Given the description of an element on the screen output the (x, y) to click on. 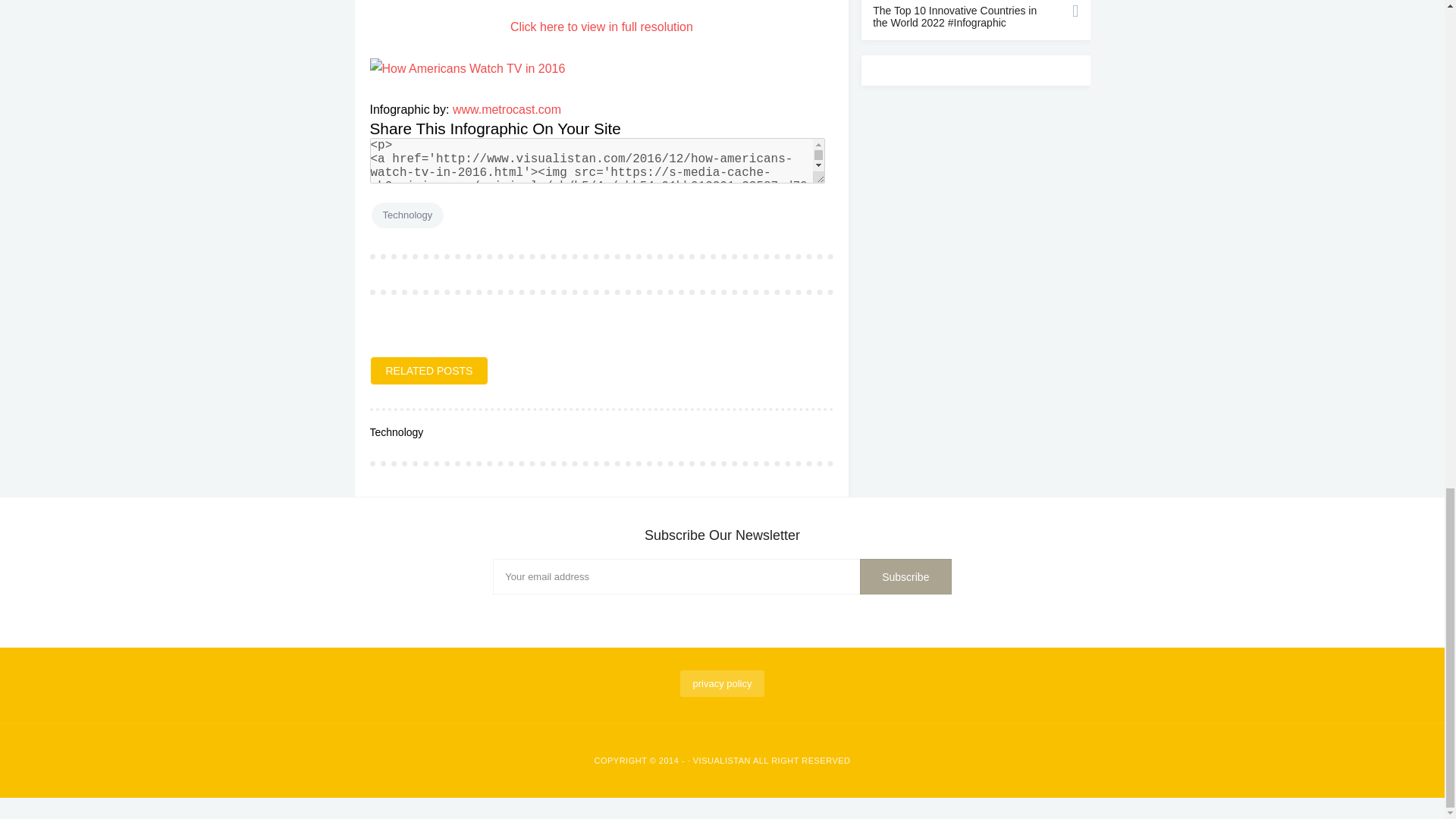
Subscribe (906, 576)
www.metrocast.com (506, 109)
Email (722, 576)
Click here to view in full resolution (602, 26)
Technology (407, 215)
